Given the description of an element on the screen output the (x, y) to click on. 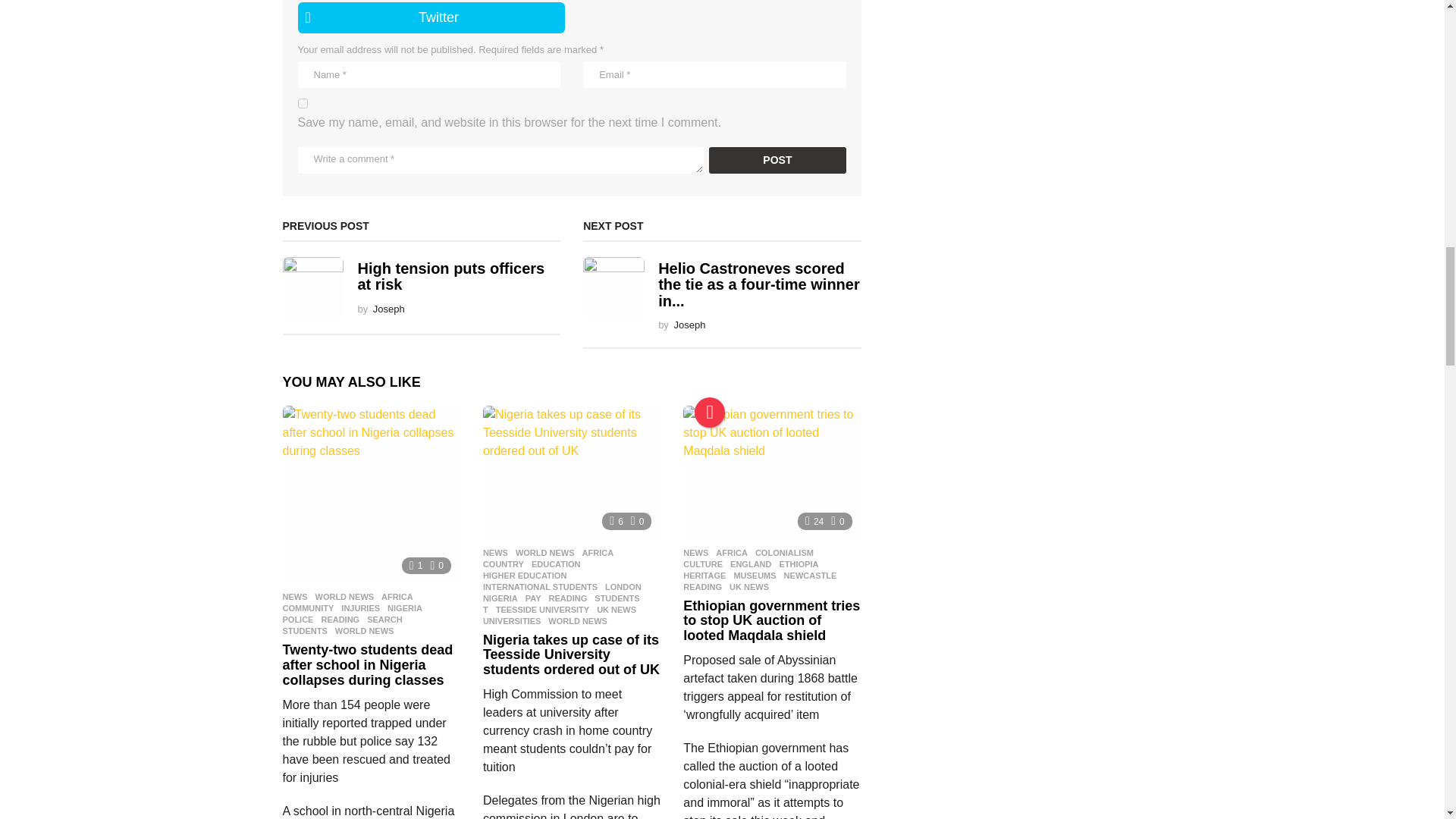
yes (302, 103)
Popular (709, 412)
Post (777, 160)
